Given the description of an element on the screen output the (x, y) to click on. 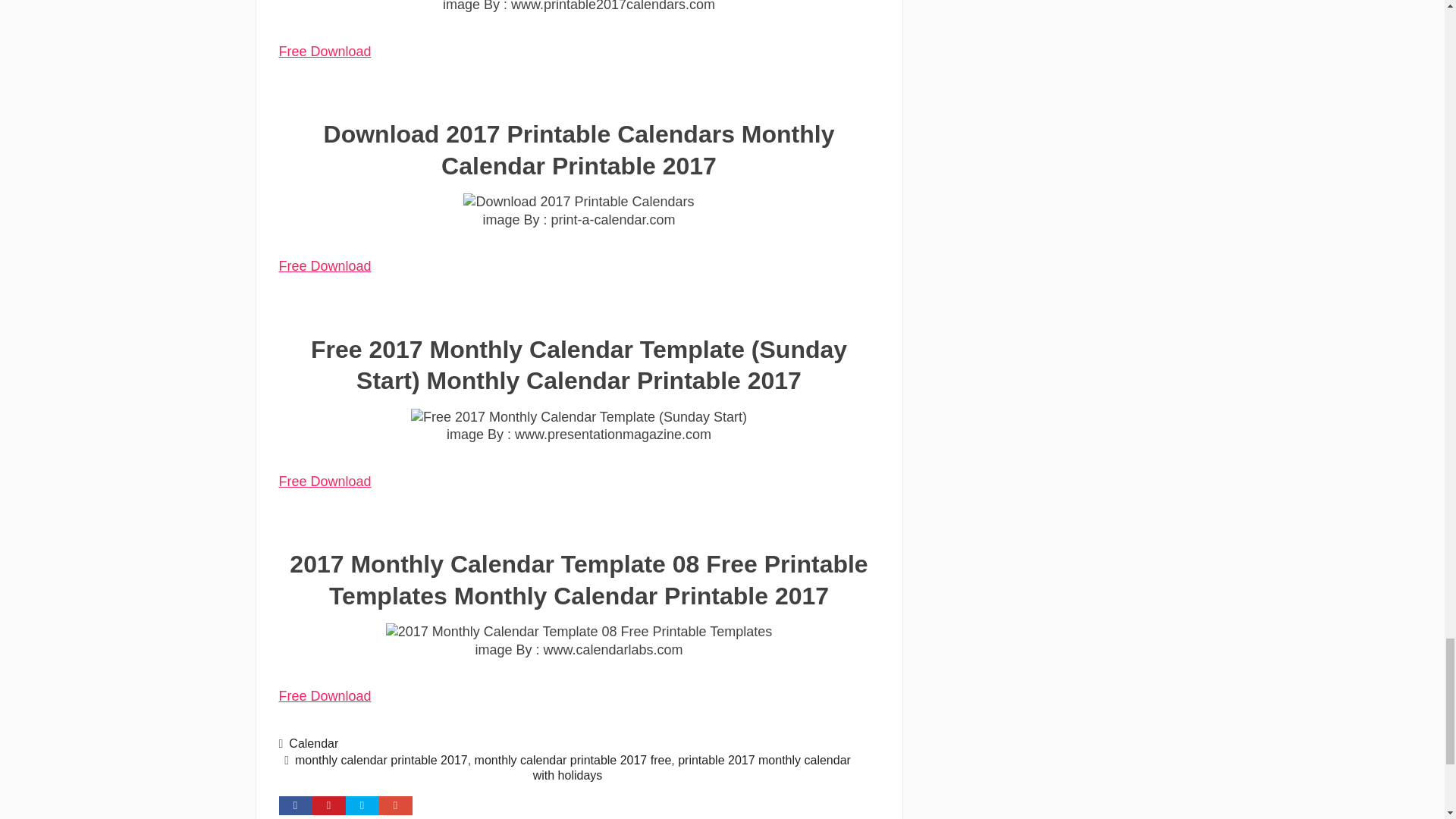
Download 2017 Printable Calendars (578, 201)
Calendar (312, 743)
printable 2017 monthly calendar with holidays (691, 767)
Free Download (325, 265)
2017 Monthly Calendar Template 08 Free Printable Templates (579, 631)
monthly calendar printable 2017 free (572, 759)
monthly calendar printable 2017 (381, 759)
Free Download (325, 481)
Free Download (325, 51)
Free Download (325, 695)
